Given the description of an element on the screen output the (x, y) to click on. 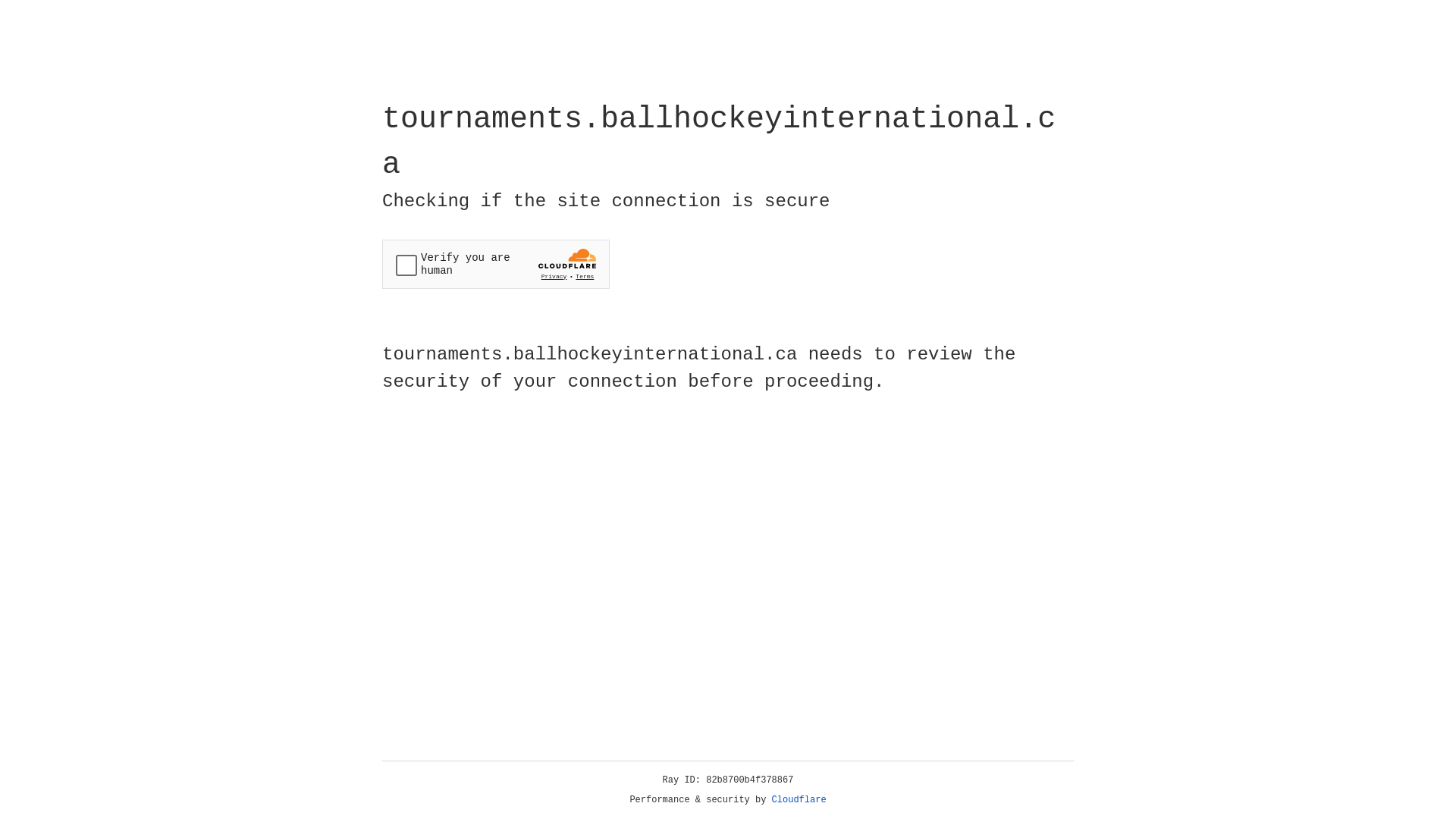
Widget containing a Cloudflare security challenge Element type: hover (495, 263)
Cloudflare Element type: text (798, 799)
